Given the description of an element on the screen output the (x, y) to click on. 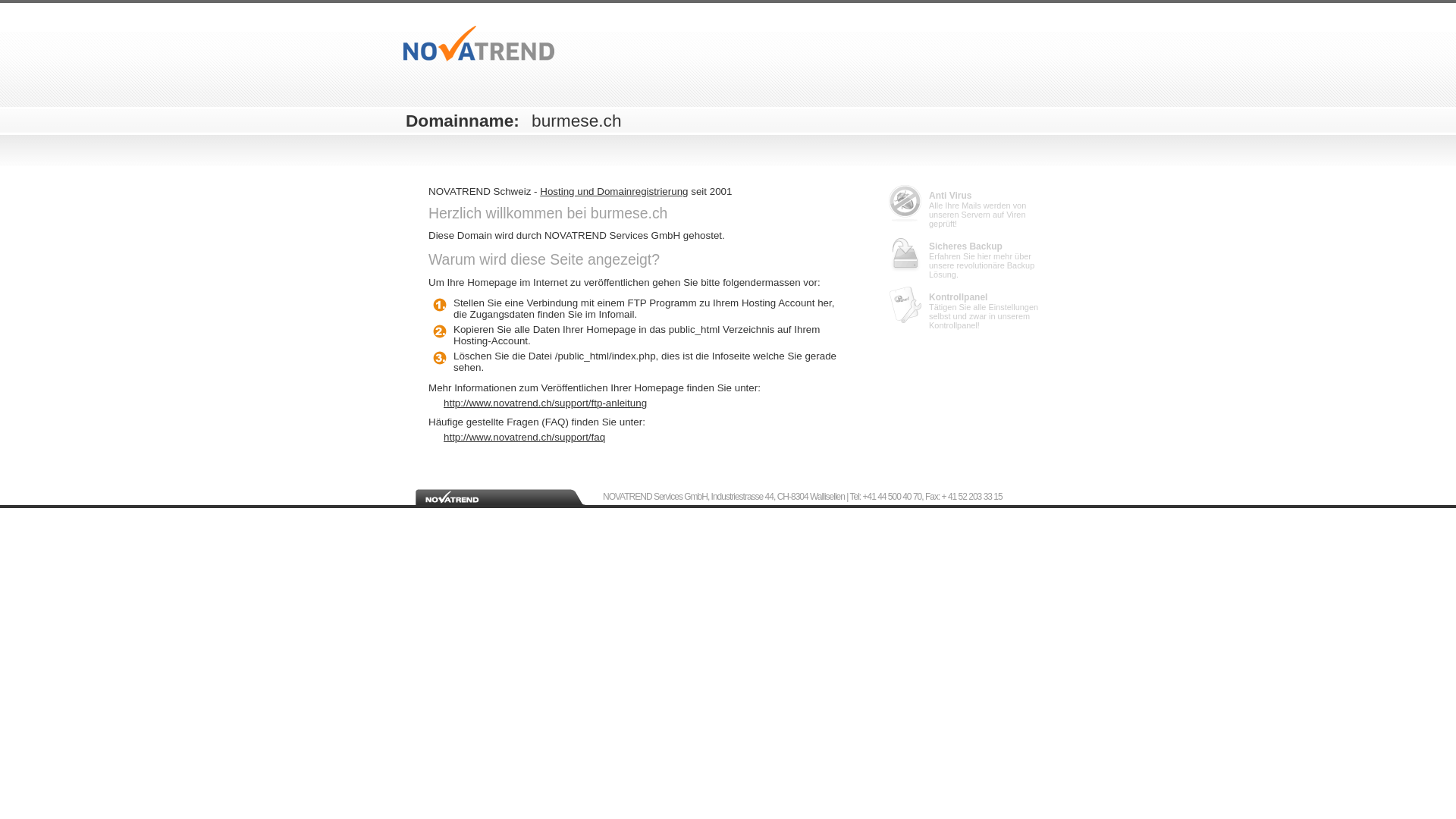
http://www.novatrend.ch/support/faq Element type: text (644, 436)
http://www.novatrend.ch/support/ftp-anleitung Element type: text (644, 402)
Hosting und Domainregistrierung Element type: text (613, 191)
